Given the description of an element on the screen output the (x, y) to click on. 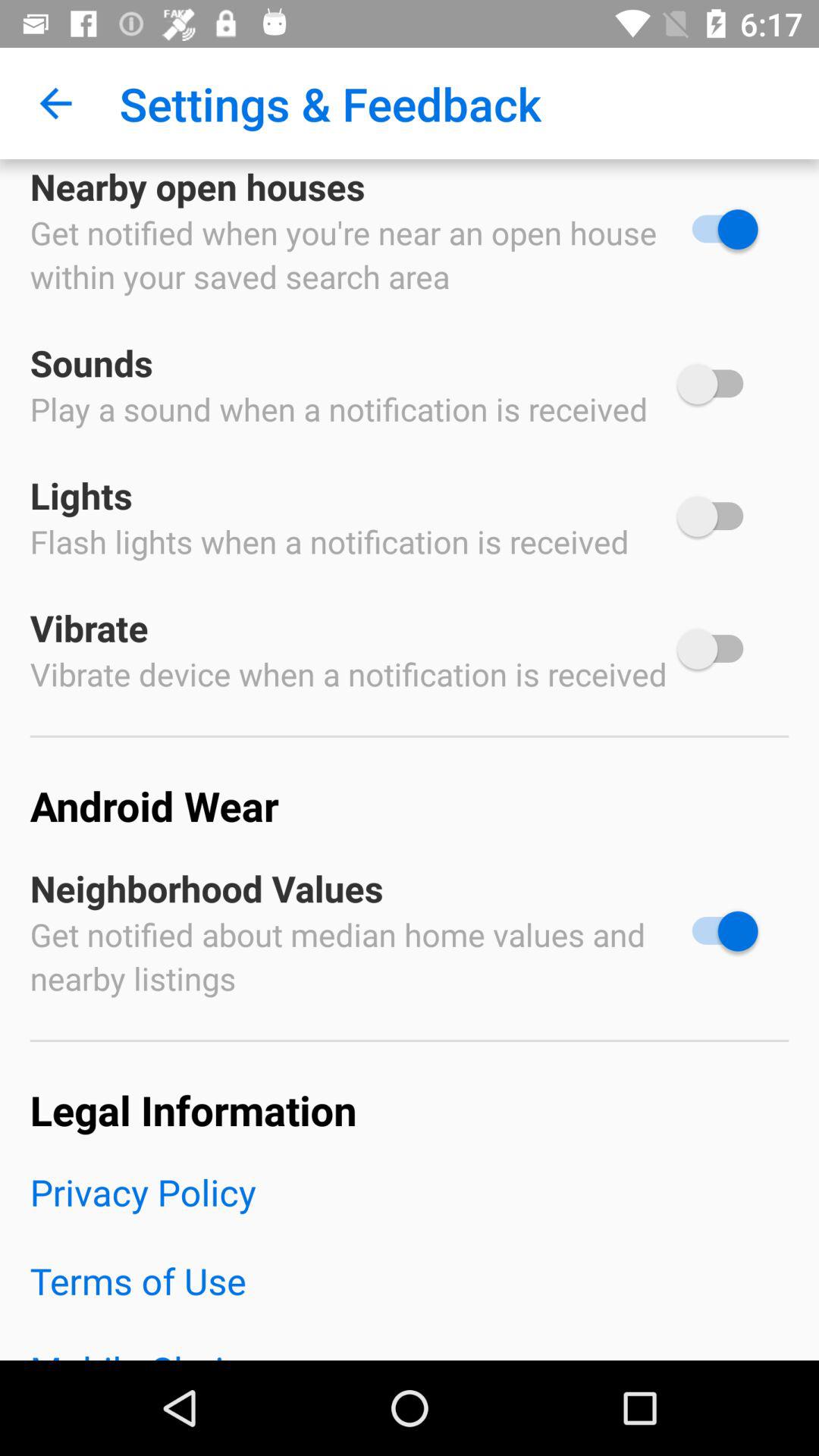
turn on icon to the left of settings & feedback app (55, 103)
